Given the description of an element on the screen output the (x, y) to click on. 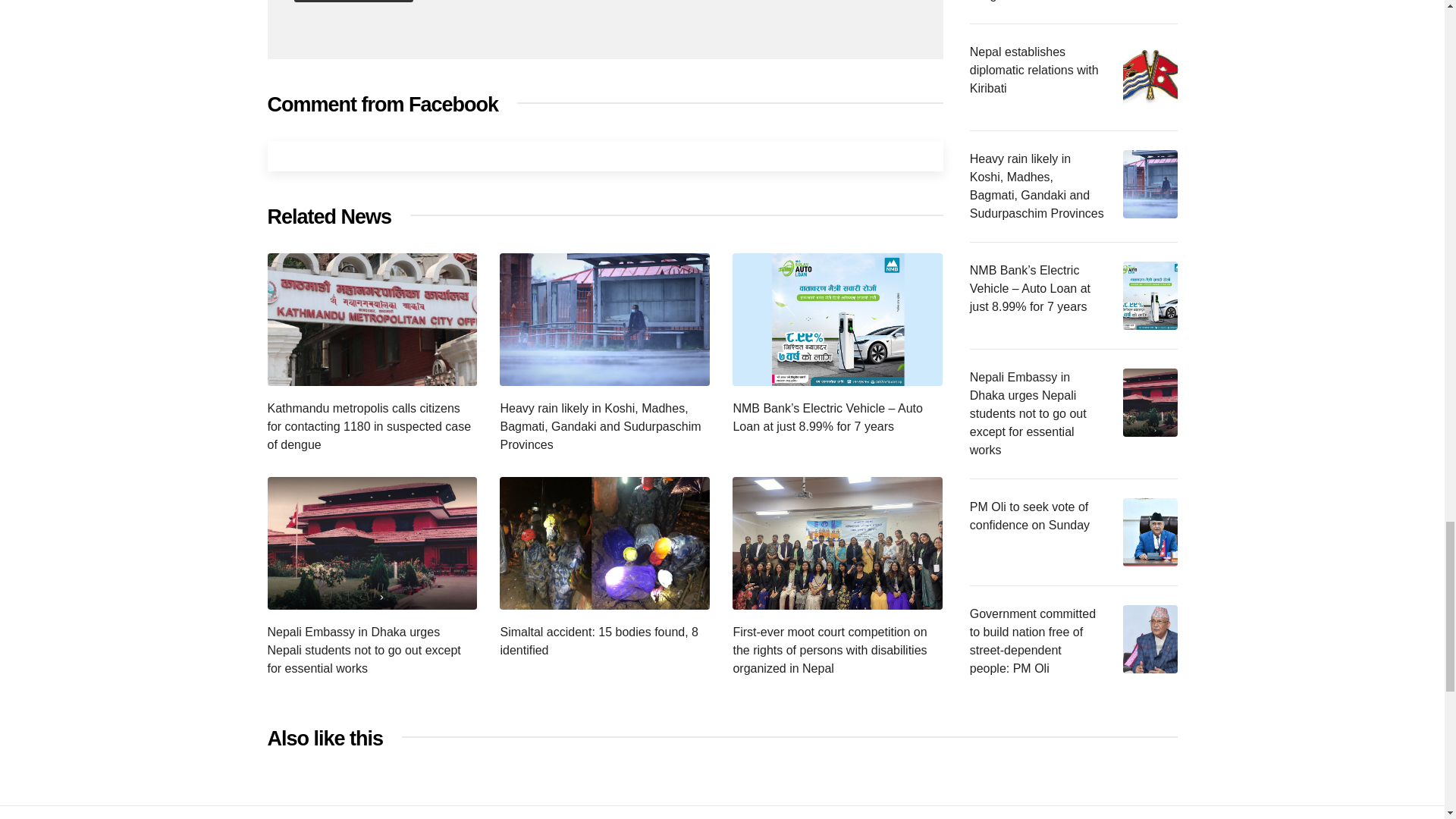
Post Comment (353, 1)
